Given the description of an element on the screen output the (x, y) to click on. 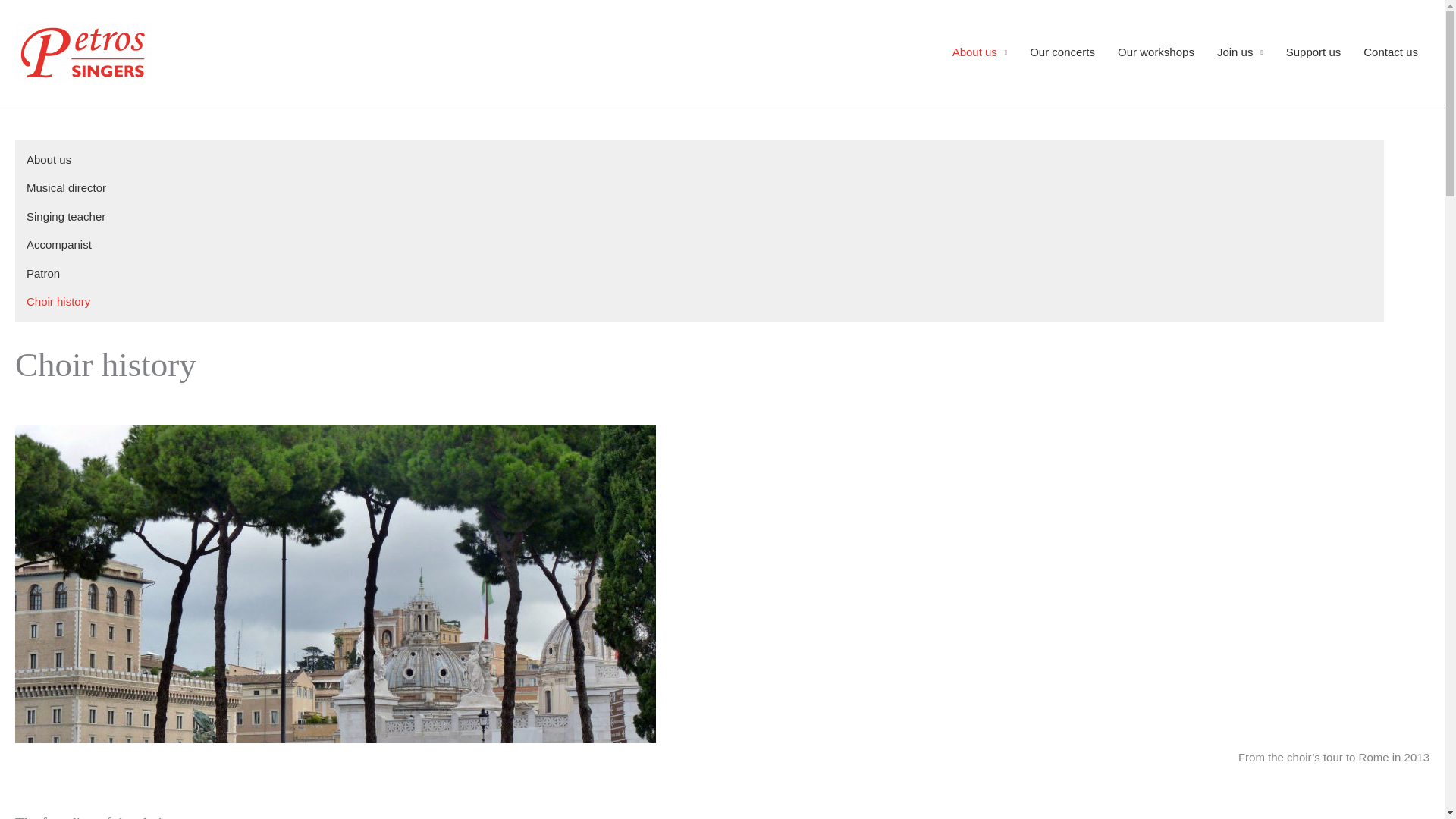
Musical director (66, 187)
Support us (1313, 52)
Accompanist (58, 244)
Choir history (58, 300)
Our concerts (1061, 52)
Contact us (1390, 52)
About us (48, 159)
About us (979, 52)
Join us (1240, 52)
Singing teacher (65, 215)
Our workshops (1155, 52)
Patron (42, 273)
